Given the description of an element on the screen output the (x, y) to click on. 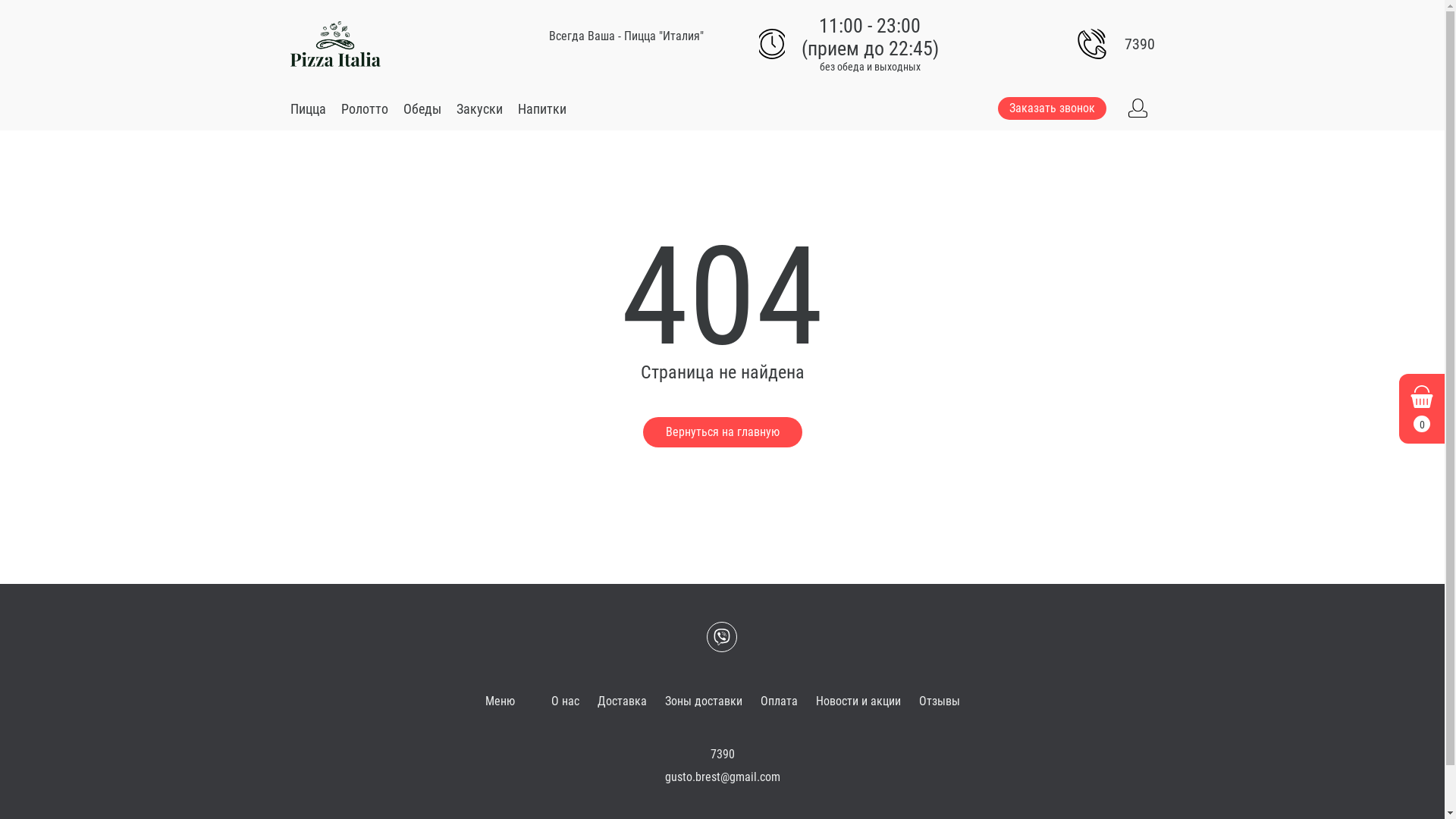
Viber Element type: hover (721, 636)
0 Element type: text (1421, 408)
7390 Element type: text (1138, 43)
gusto.brest@gmail.com Element type: text (721, 776)
7390 Element type: text (721, 753)
